Given the description of an element on the screen output the (x, y) to click on. 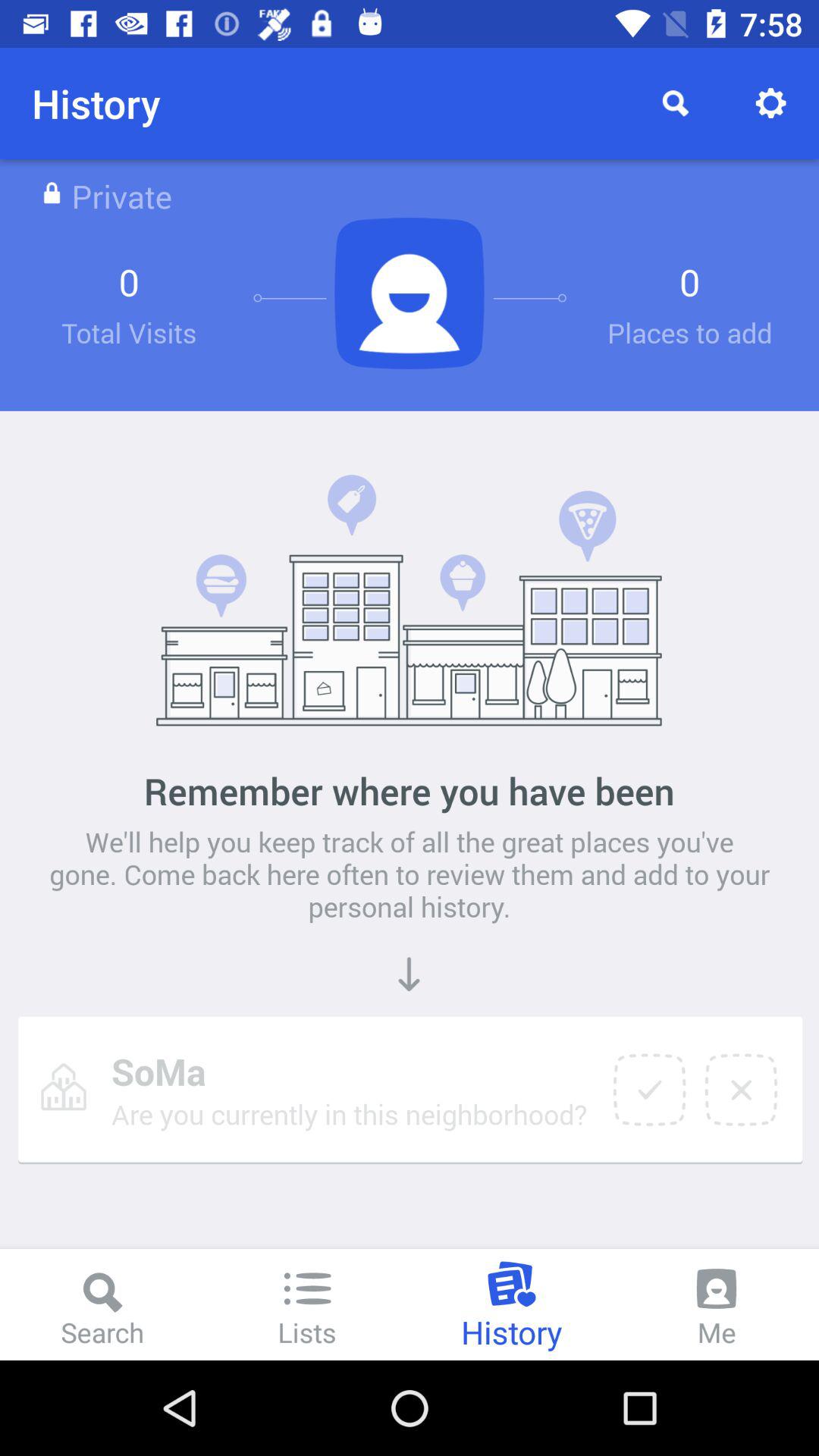
validate choice (649, 1089)
